Given the description of an element on the screen output the (x, y) to click on. 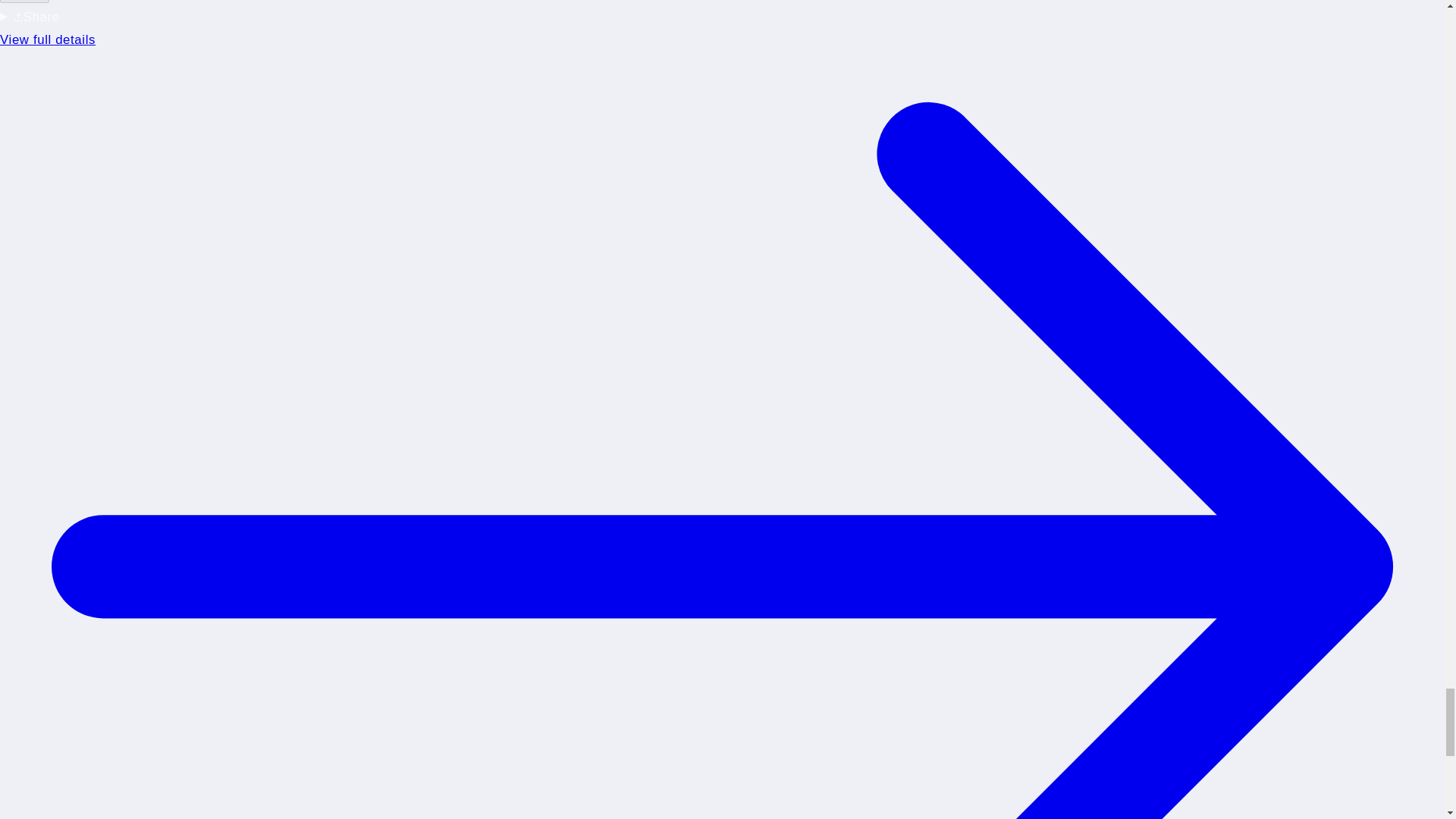
Share (24, 1)
